Given the description of an element on the screen output the (x, y) to click on. 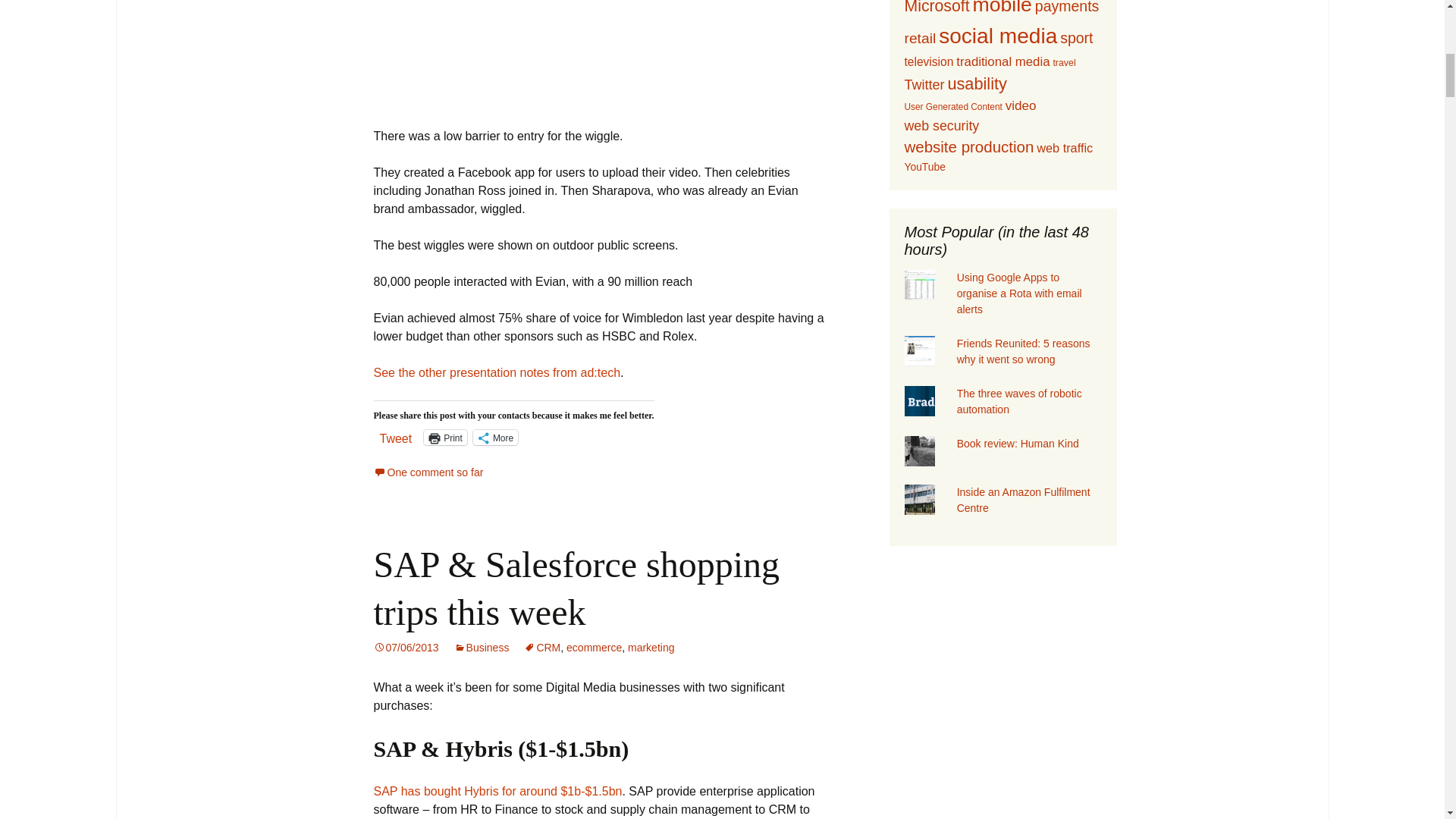
See the other presentation notes from ad:tech (496, 372)
Click to print (445, 437)
One comment so far (427, 472)
CRM (542, 647)
ecommerce (593, 647)
marketing (650, 647)
Print (445, 437)
Tweet (395, 436)
Business (481, 647)
More (495, 437)
